Given the description of an element on the screen output the (x, y) to click on. 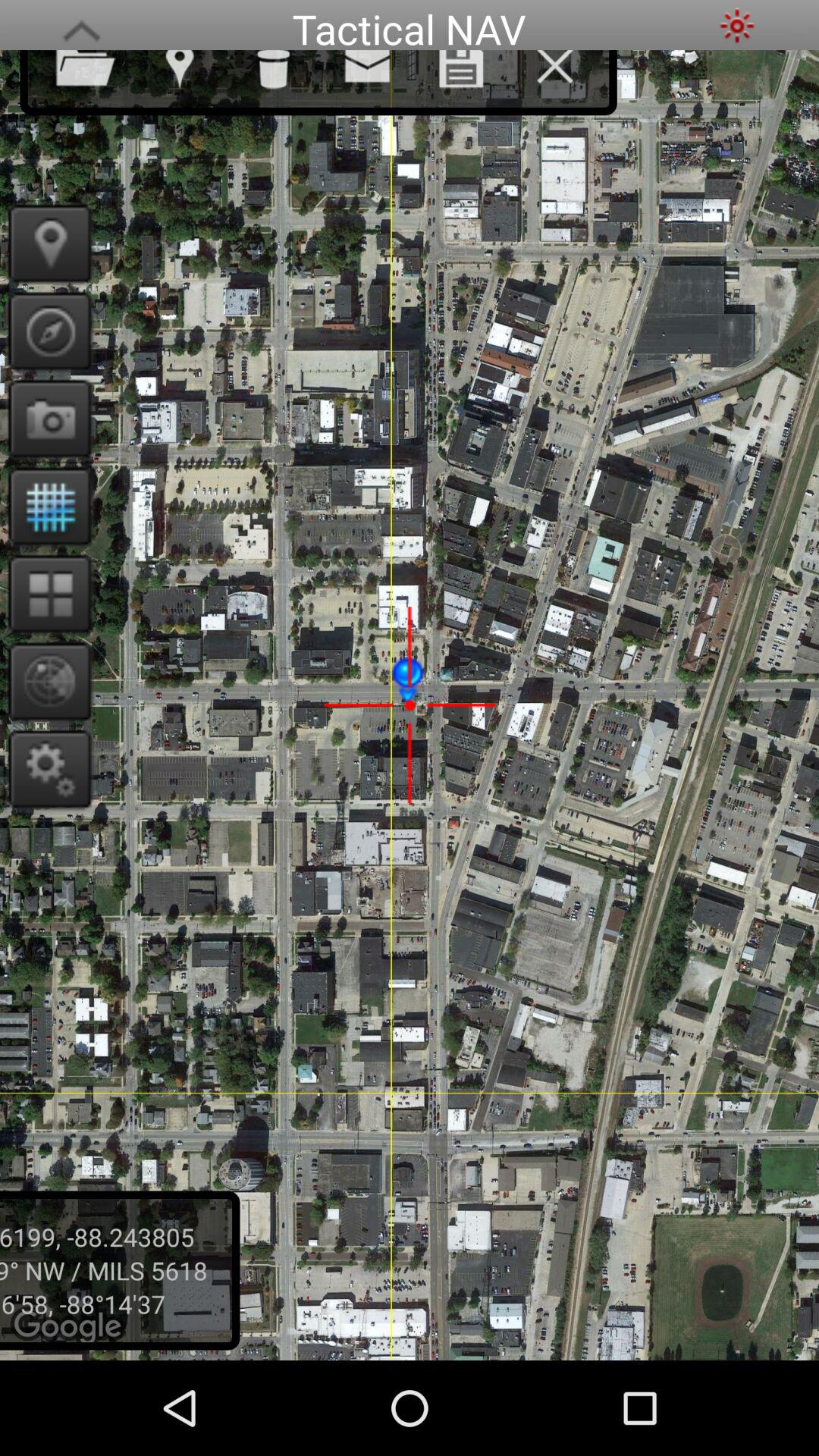
take a photo (45, 418)
